Given the description of an element on the screen output the (x, y) to click on. 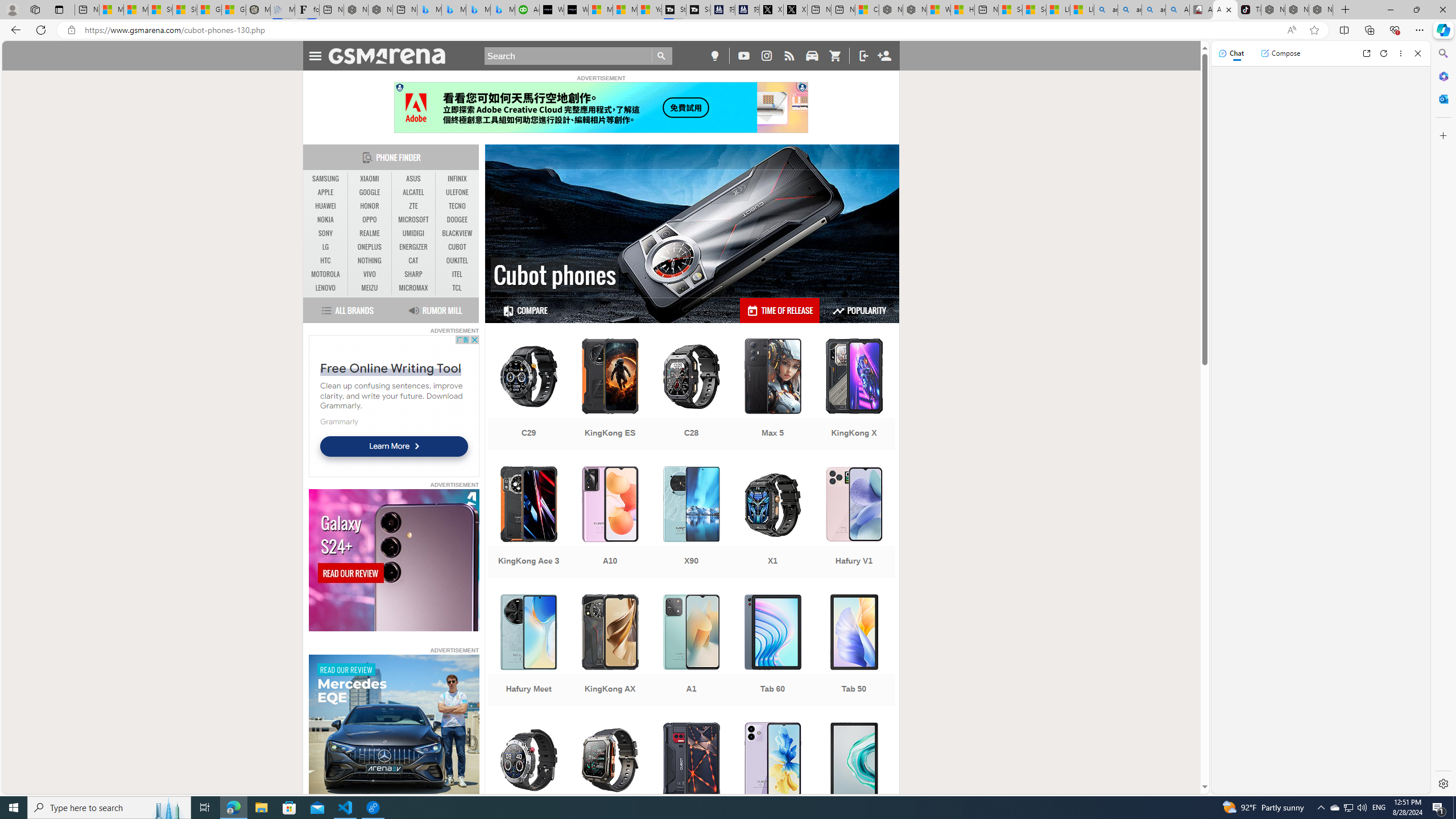
Customize (1442, 135)
CUBOT (457, 246)
CAT (413, 260)
NOKIA (325, 219)
TCL (457, 287)
A10 (609, 523)
MICROSOFT (413, 219)
ITEL (457, 273)
Manatee Mortality Statistics | FWC (258, 9)
